Given the description of an element on the screen output the (x, y) to click on. 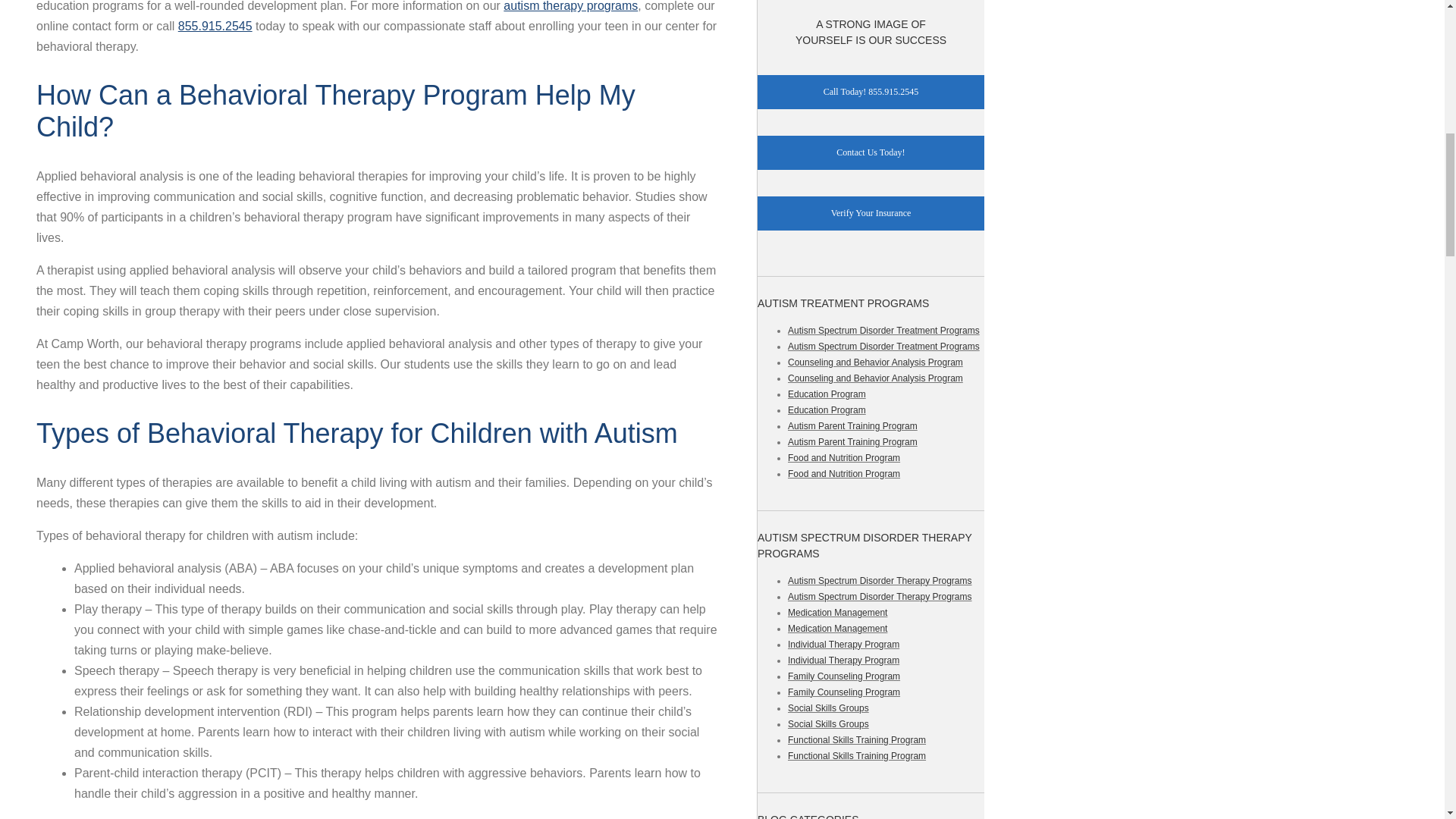
Contact Us (870, 152)
Contact Us (870, 213)
